Given the description of an element on the screen output the (x, y) to click on. 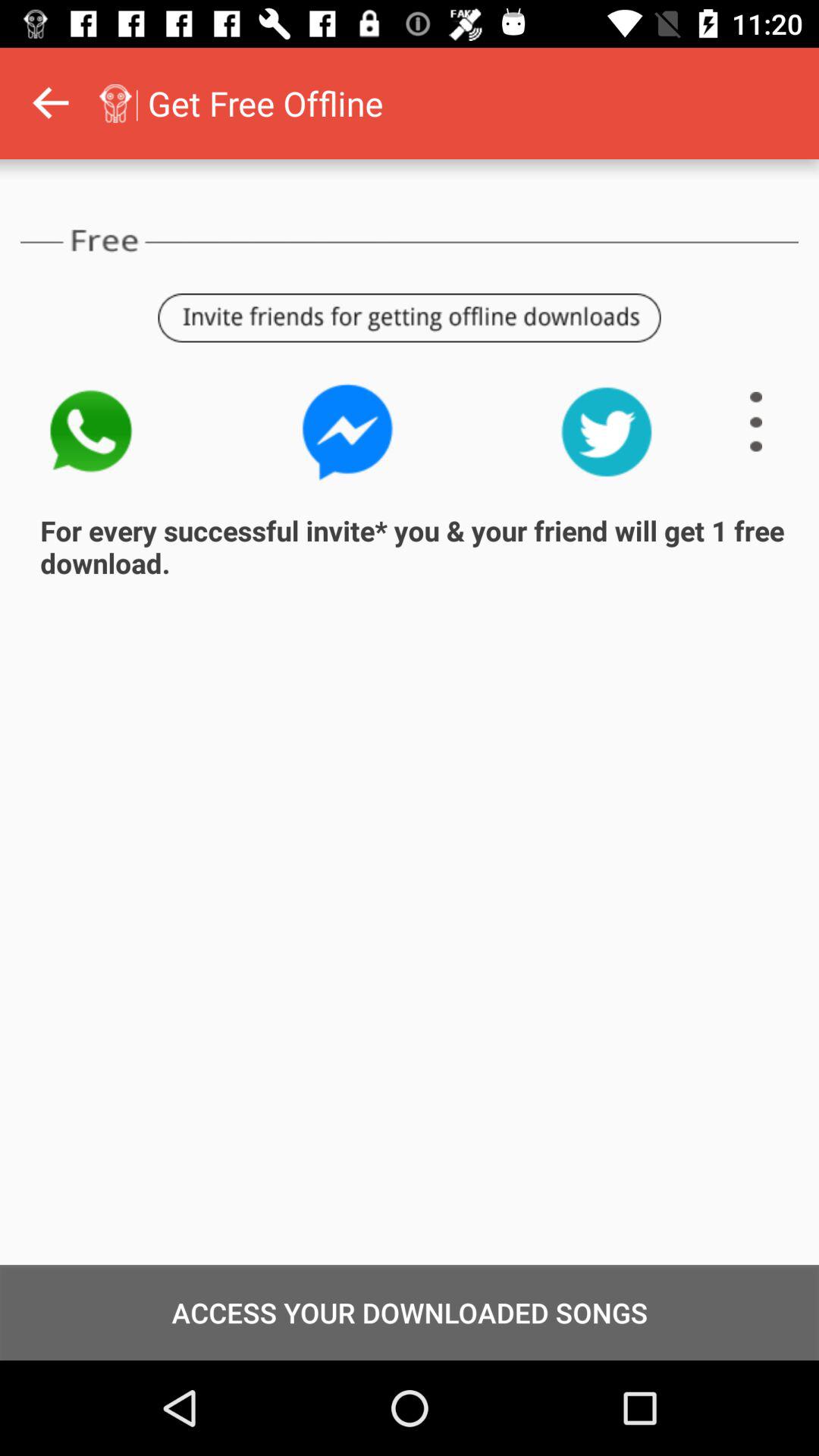
share on twitter (606, 431)
